Given the description of an element on the screen output the (x, y) to click on. 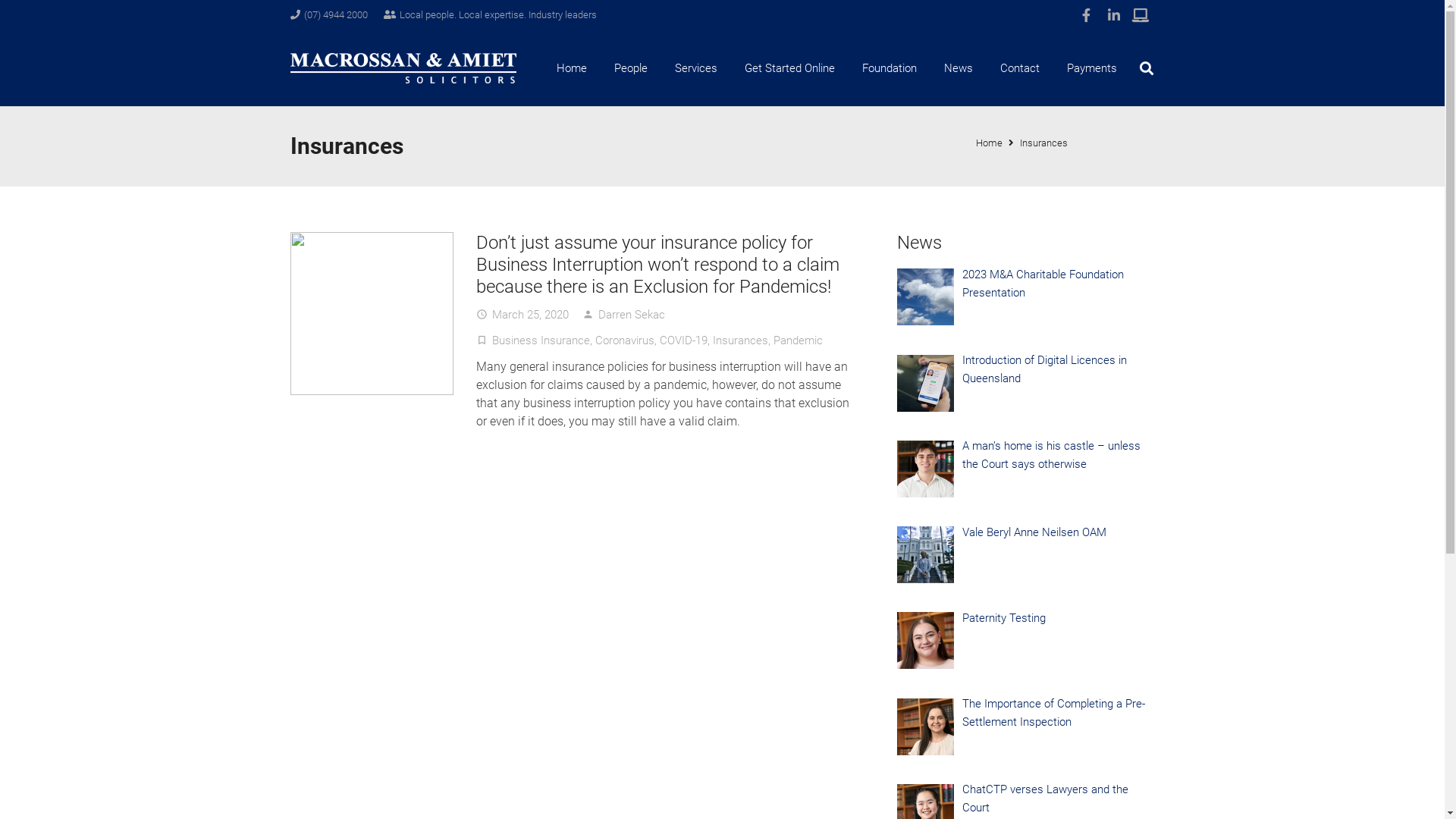
Facebook Element type: hover (1085, 14)
Vale Beryl Anne Neilsen OAM Element type: text (1034, 532)
Insurances Element type: text (740, 340)
Pandemic Element type: text (797, 340)
News Element type: text (958, 68)
Payments Element type: text (1091, 68)
COVID-19 Element type: text (683, 340)
ChatCTP verses Lawyers and the Court Element type: text (1045, 798)
Home Element type: text (571, 68)
People Element type: text (630, 68)
Contact Element type: text (1019, 68)
Darren Sekac Element type: text (630, 314)
2023 M&A Charitable Foundation Presentation Element type: text (1042, 283)
Coronavirus Element type: text (623, 340)
Foundation Element type: text (889, 68)
Insurances Element type: text (1043, 142)
Business Insurance Element type: text (540, 340)
Learn More Element type: hover (1140, 14)
LinkedIn Element type: hover (1112, 14)
The Importance of Completing a Pre-Settlement Inspection Element type: text (1053, 712)
Get Started Online Element type: text (789, 68)
Introduction of Digital Licences in Queensland Element type: text (1044, 369)
Paternity Testing Element type: text (1003, 617)
Home Element type: text (988, 142)
Services Element type: text (696, 68)
